Given the description of an element on the screen output the (x, y) to click on. 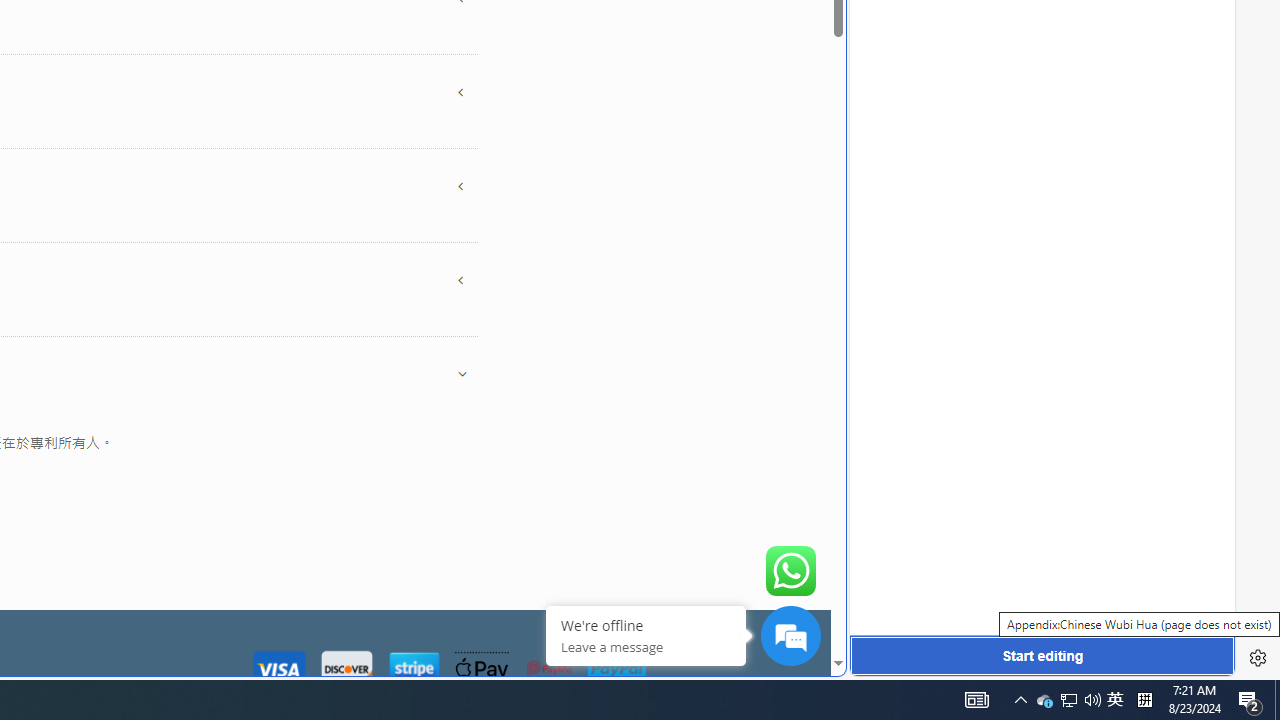
Start editing (1042, 655)
